Given the description of an element on the screen output the (x, y) to click on. 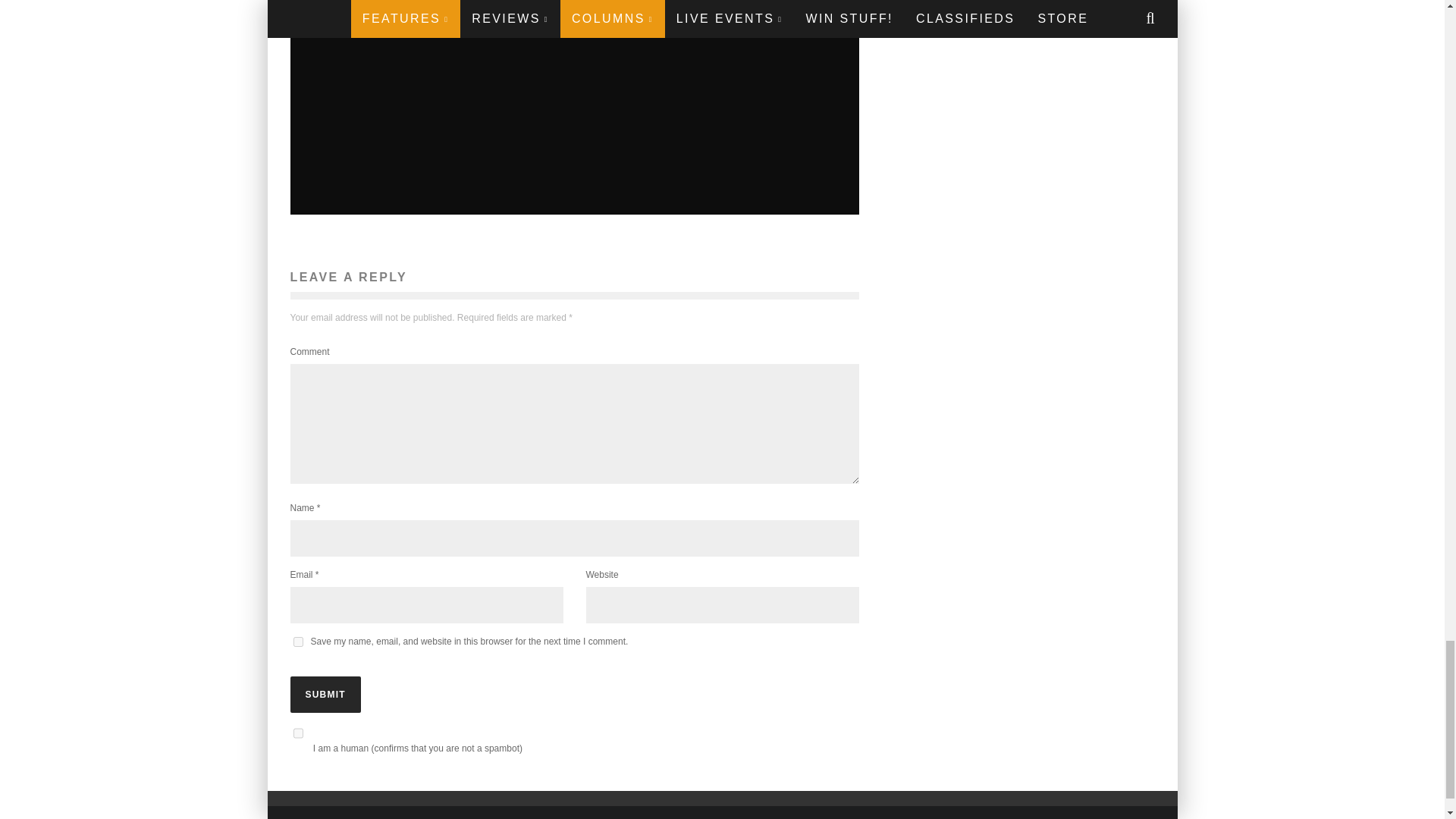
Submit (324, 694)
yes (297, 642)
